Given the description of an element on the screen output the (x, y) to click on. 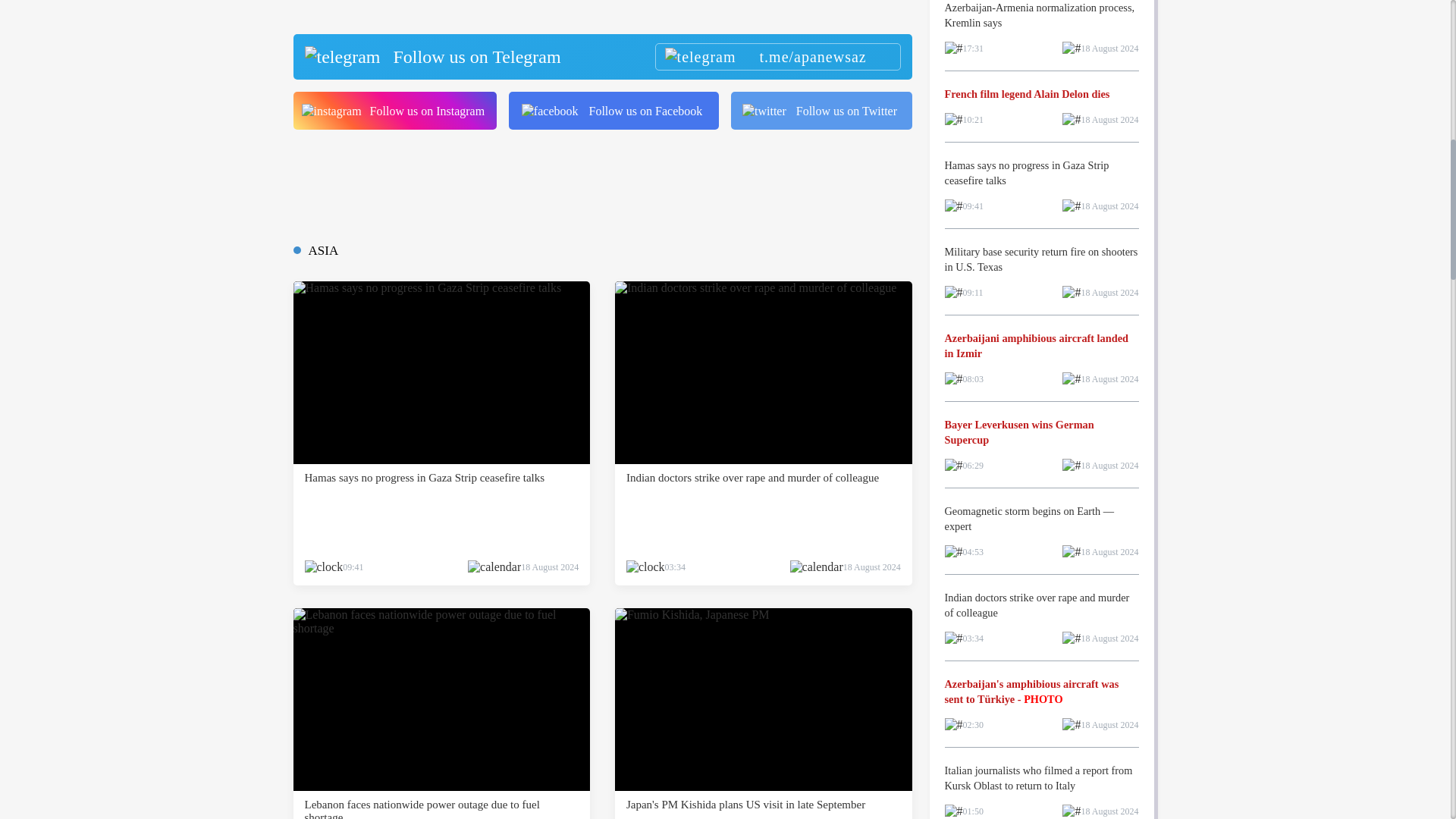
Follow us on Telegram (601, 56)
Follow us on Twitter (821, 110)
Follow us on Facebook (613, 110)
Follow us on Instagram (394, 110)
